Given the description of an element on the screen output the (x, y) to click on. 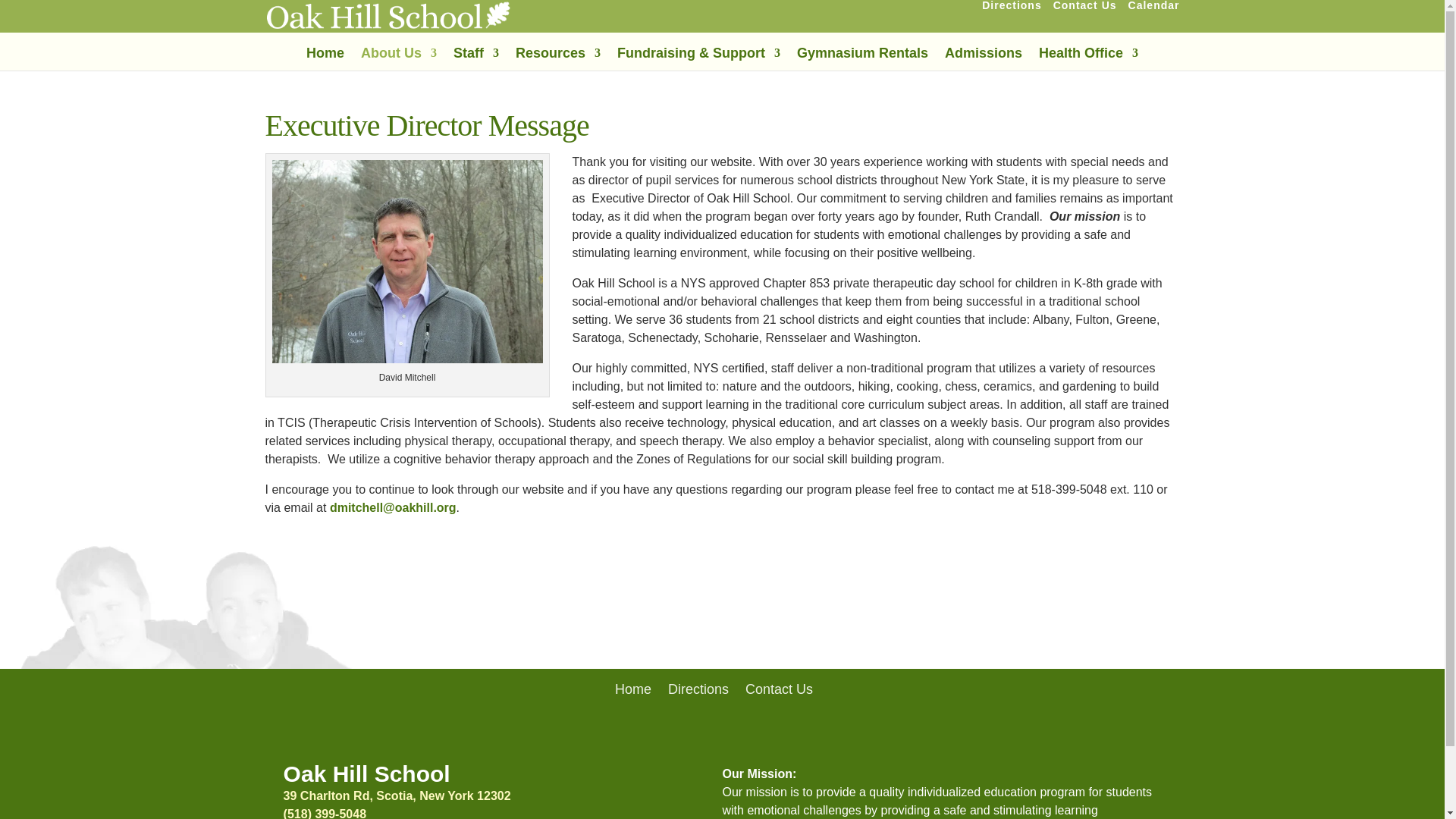
About Us (398, 58)
Calendar (1153, 9)
Directions (1011, 9)
Health Office (1088, 58)
Home (324, 58)
Staff (475, 58)
Gymnasium Rentals (862, 58)
Contact Us (1084, 9)
Admissions (983, 58)
Resources (557, 58)
